Given the description of an element on the screen output the (x, y) to click on. 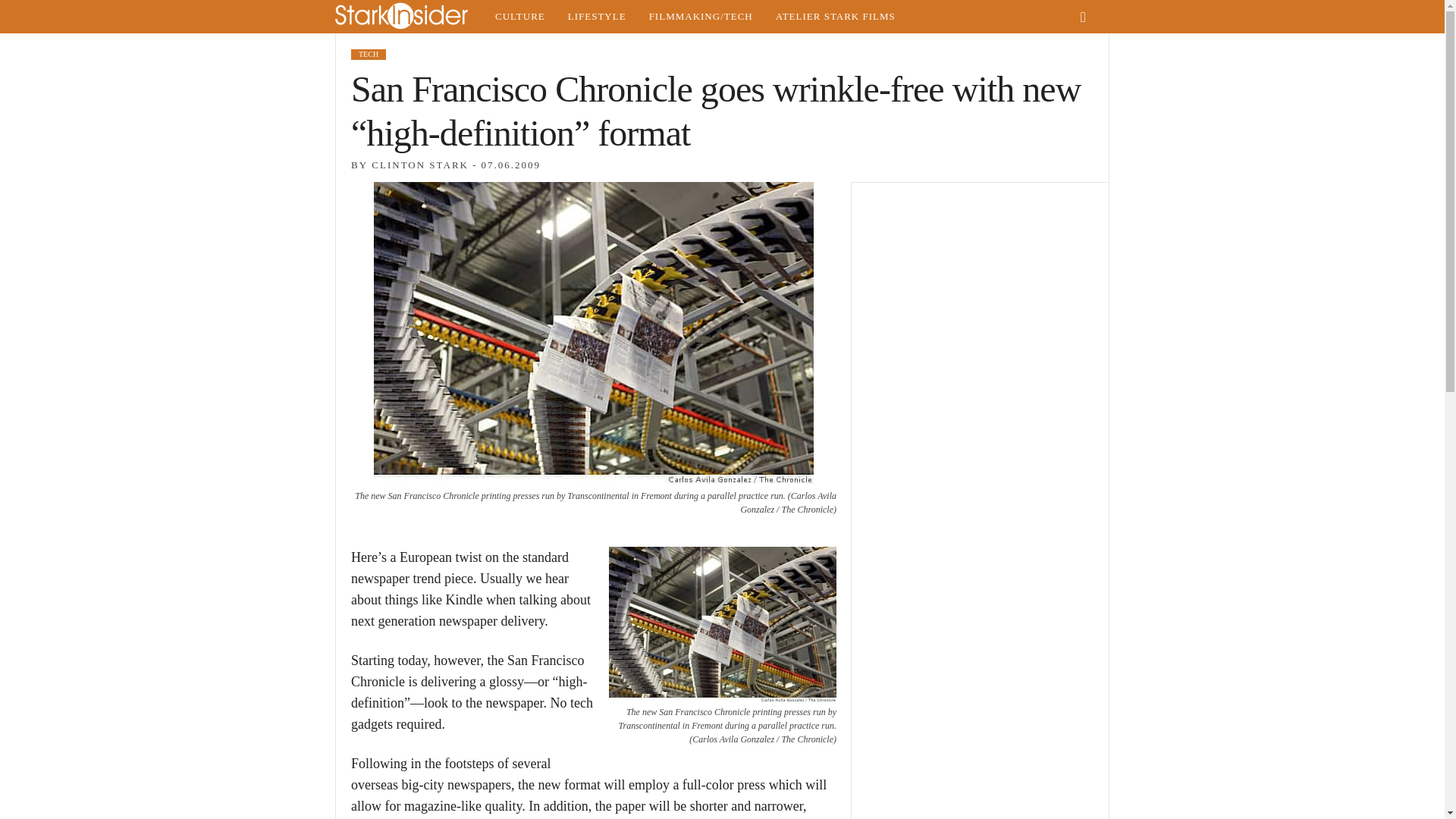
Indie film, music, arts in San Francisco and Silicon Valley (519, 16)
CULTURE (519, 16)
CLINTON STARK (419, 164)
LIFESTYLE (596, 16)
ATELIER STARK FILMS (835, 16)
TECH (367, 54)
Tech, gadgets, camera news and reviews from Silicon Valley (700, 16)
Stark Insider (408, 16)
